Given the description of an element on the screen output the (x, y) to click on. 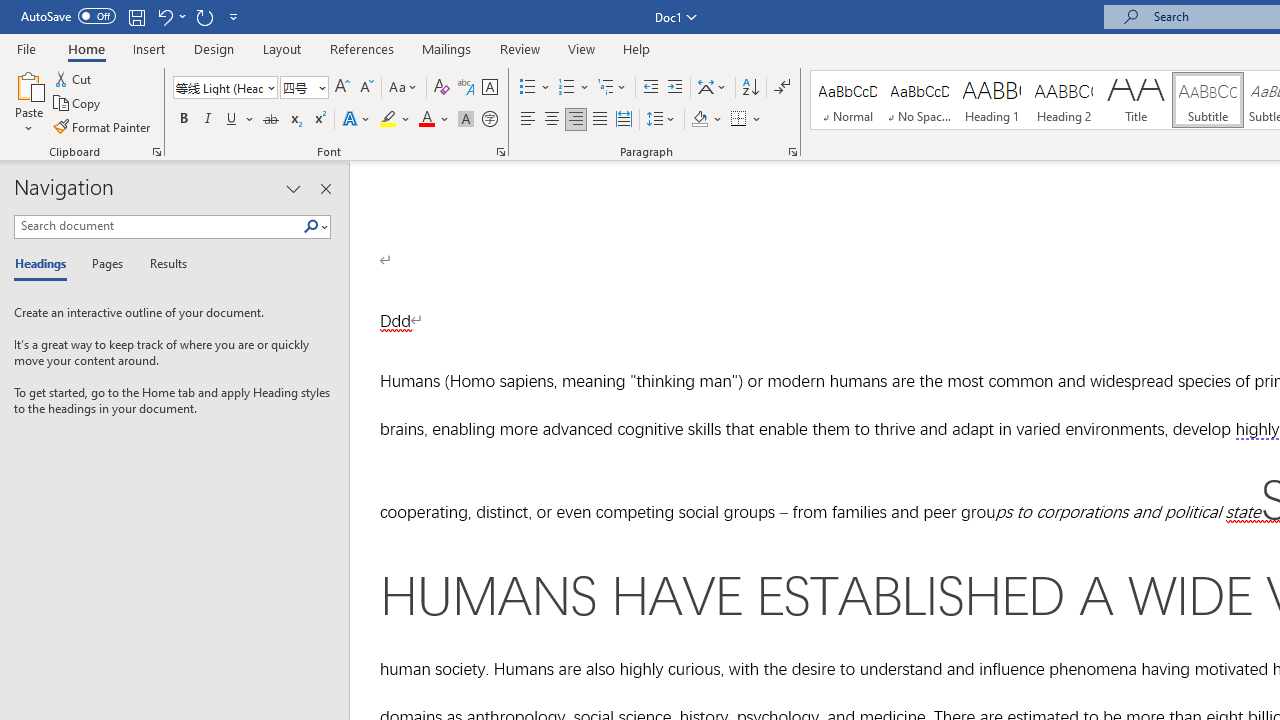
Text Highlight Color (395, 119)
Text Effects and Typography (357, 119)
Show/Hide Editing Marks (781, 87)
Grow Font (342, 87)
Repeat Paragraph Alignment (204, 15)
Clear Formatting (442, 87)
Shading (706, 119)
Subscript (294, 119)
